Given the description of an element on the screen output the (x, y) to click on. 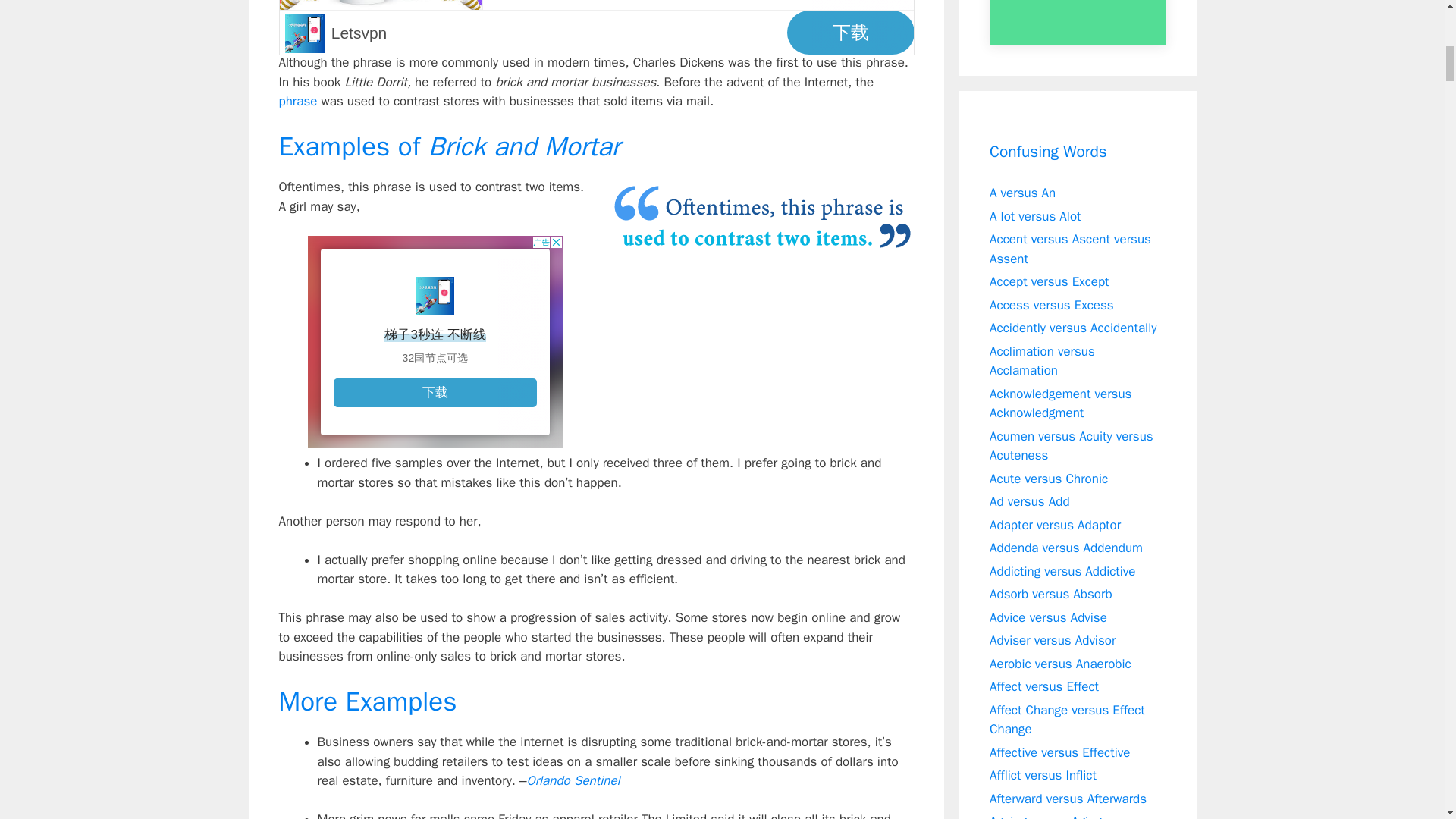
Advertisement (434, 341)
Accent versus Ascent versus Assent (1070, 248)
A lot versus Alot (1035, 215)
Orlando Sentinel (572, 780)
phrase (298, 100)
Access versus Excess (1051, 304)
Confusing Words (1048, 152)
A versus An (1022, 192)
Advertisement (596, 27)
Accidently versus Accidentally (1073, 327)
